Given the description of an element on the screen output the (x, y) to click on. 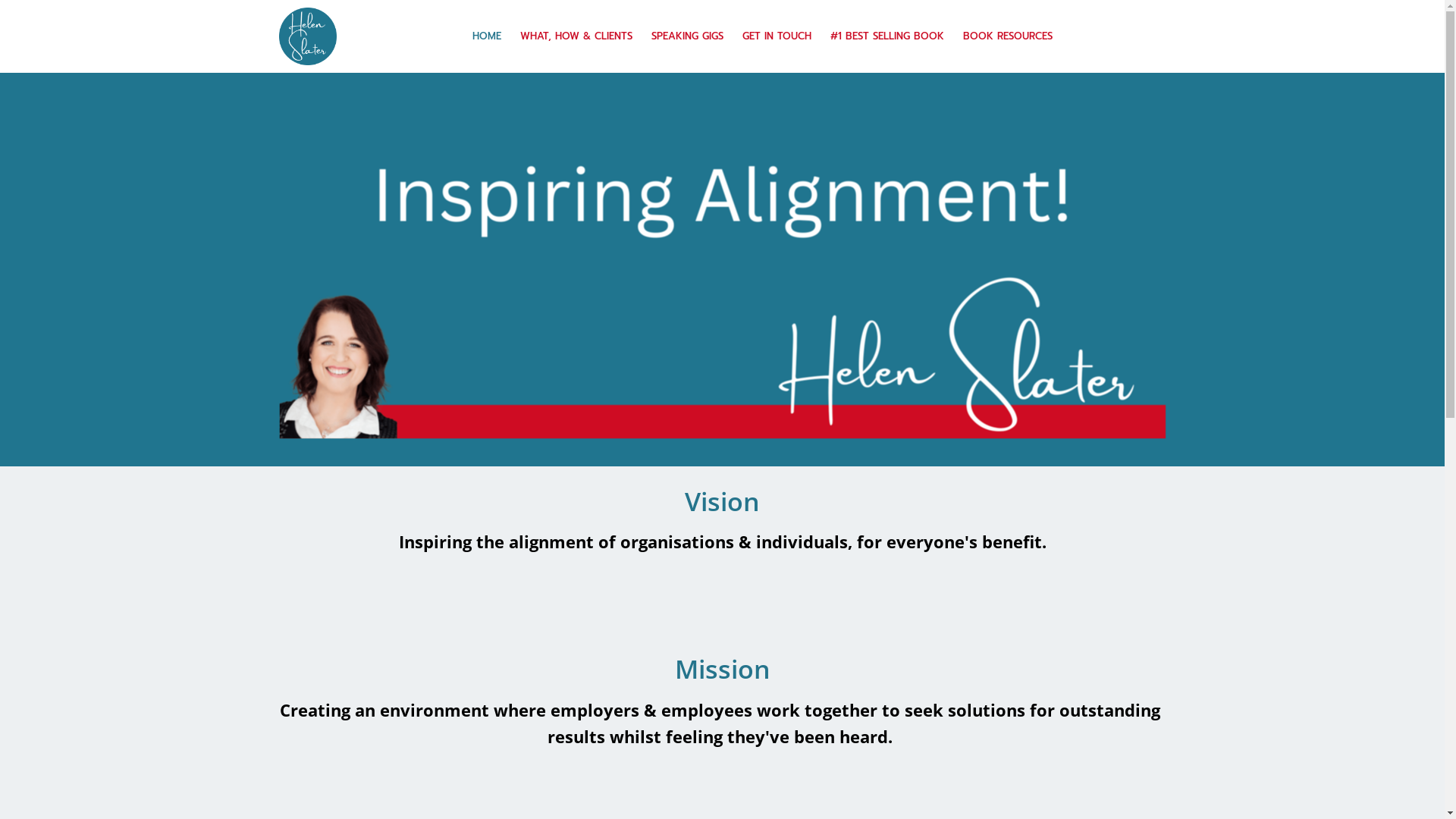
WHAT, HOW & CLIENTS Element type: text (575, 36)
#1 BEST SELLING BOOK Element type: text (887, 36)
GET IN TOUCH Element type: text (777, 36)
BOOK RESOURCES Element type: text (1007, 36)
SPEAKING GIGS Element type: text (687, 36)
HOME Element type: text (487, 36)
